Given the description of an element on the screen output the (x, y) to click on. 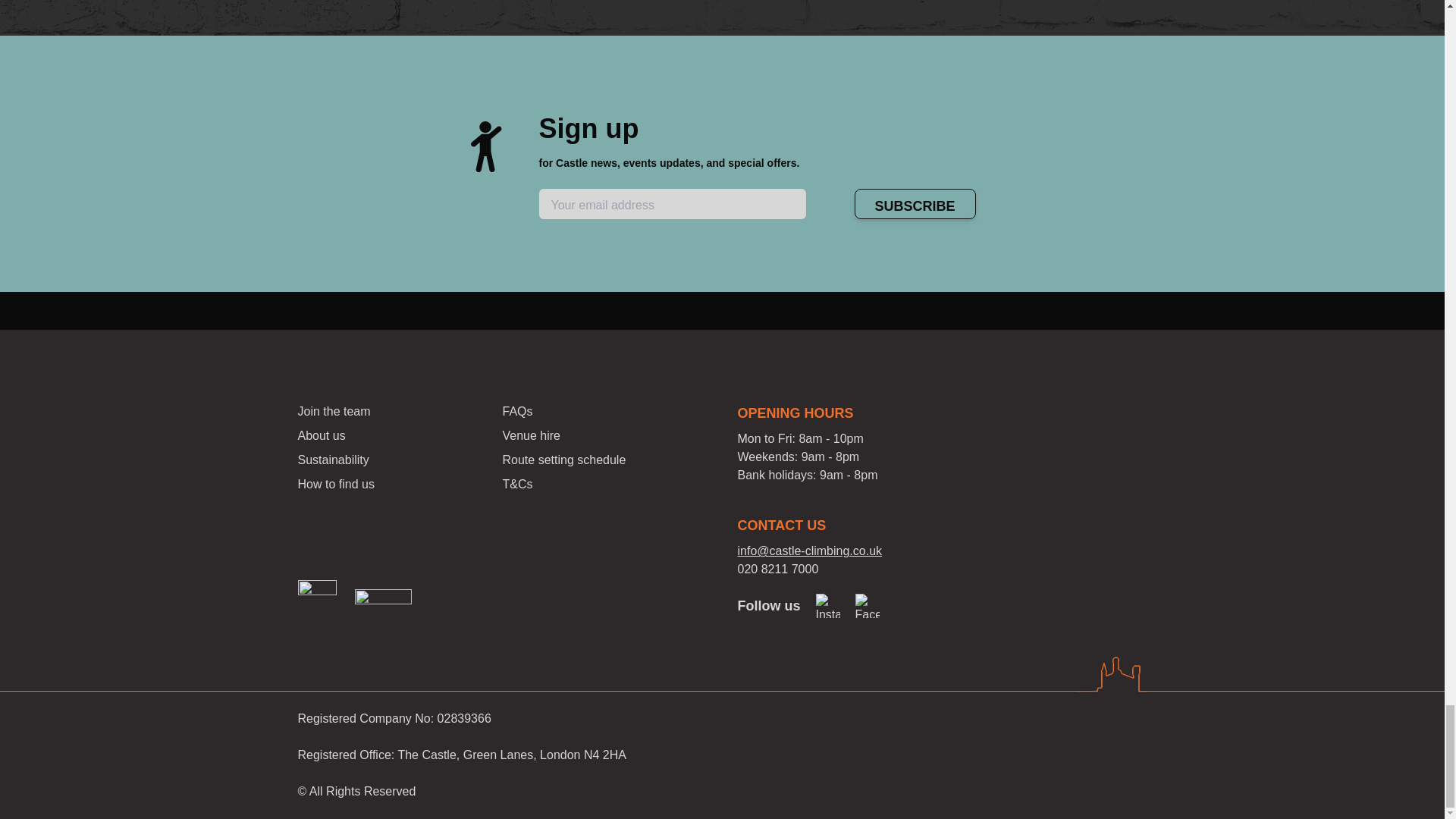
SUBSCRIBE (914, 204)
